Given the description of an element on the screen output the (x, y) to click on. 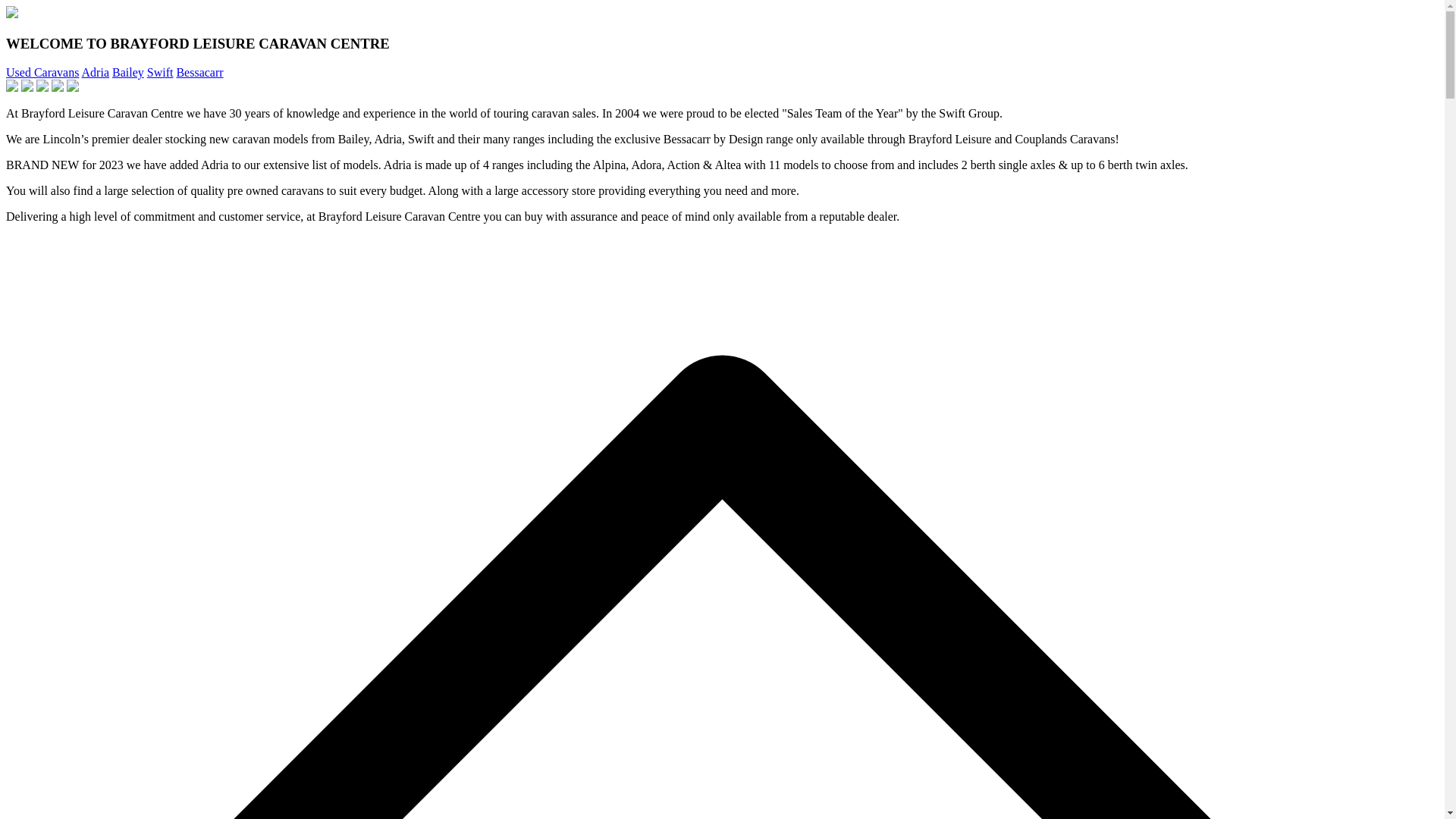
Bailey (128, 72)
Used Caravans (41, 72)
Swift (160, 72)
Bessacarr (199, 72)
Adria (95, 72)
